Given the description of an element on the screen output the (x, y) to click on. 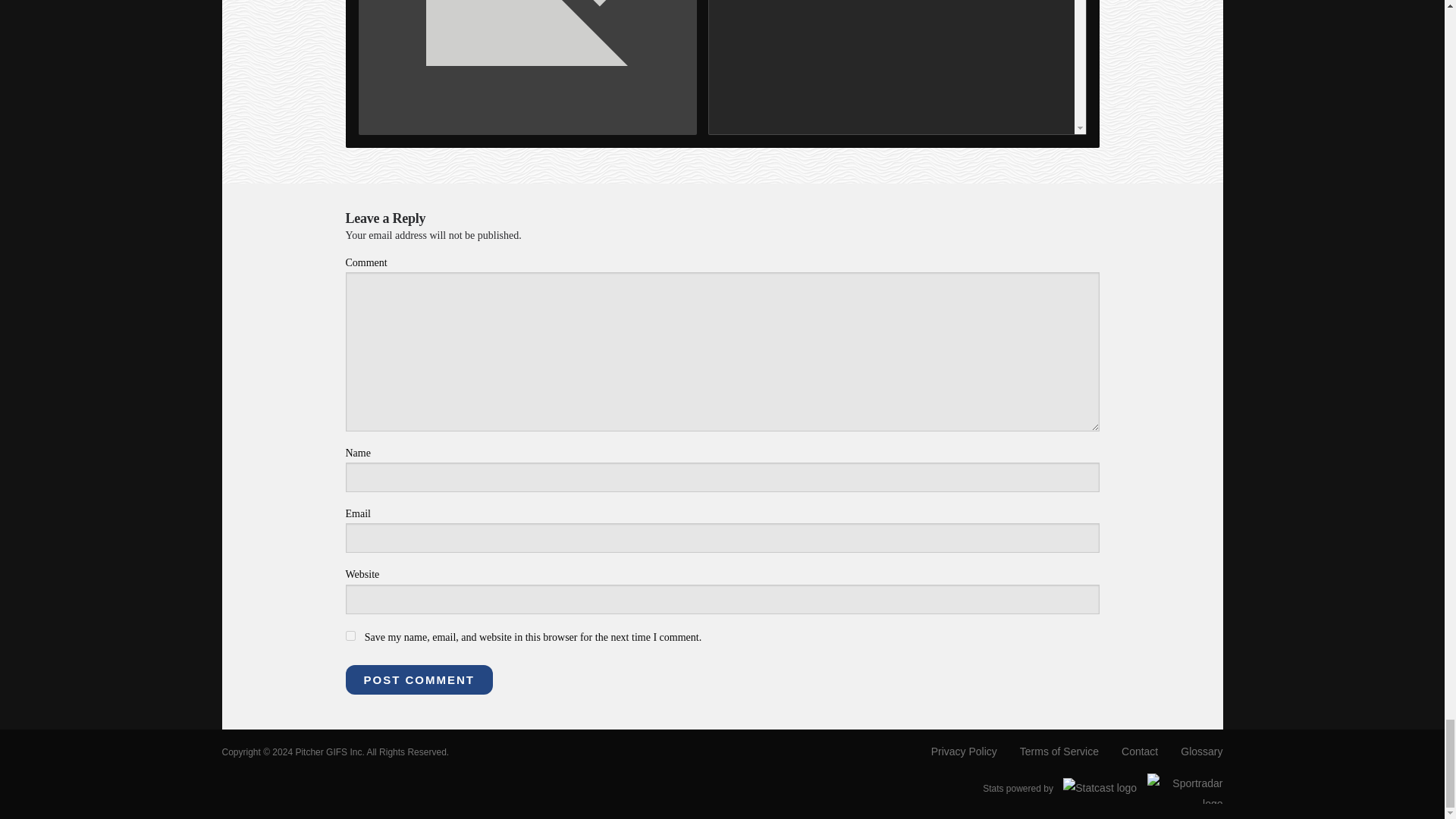
Post Comment (419, 679)
yes (350, 635)
